Given the description of an element on the screen output the (x, y) to click on. 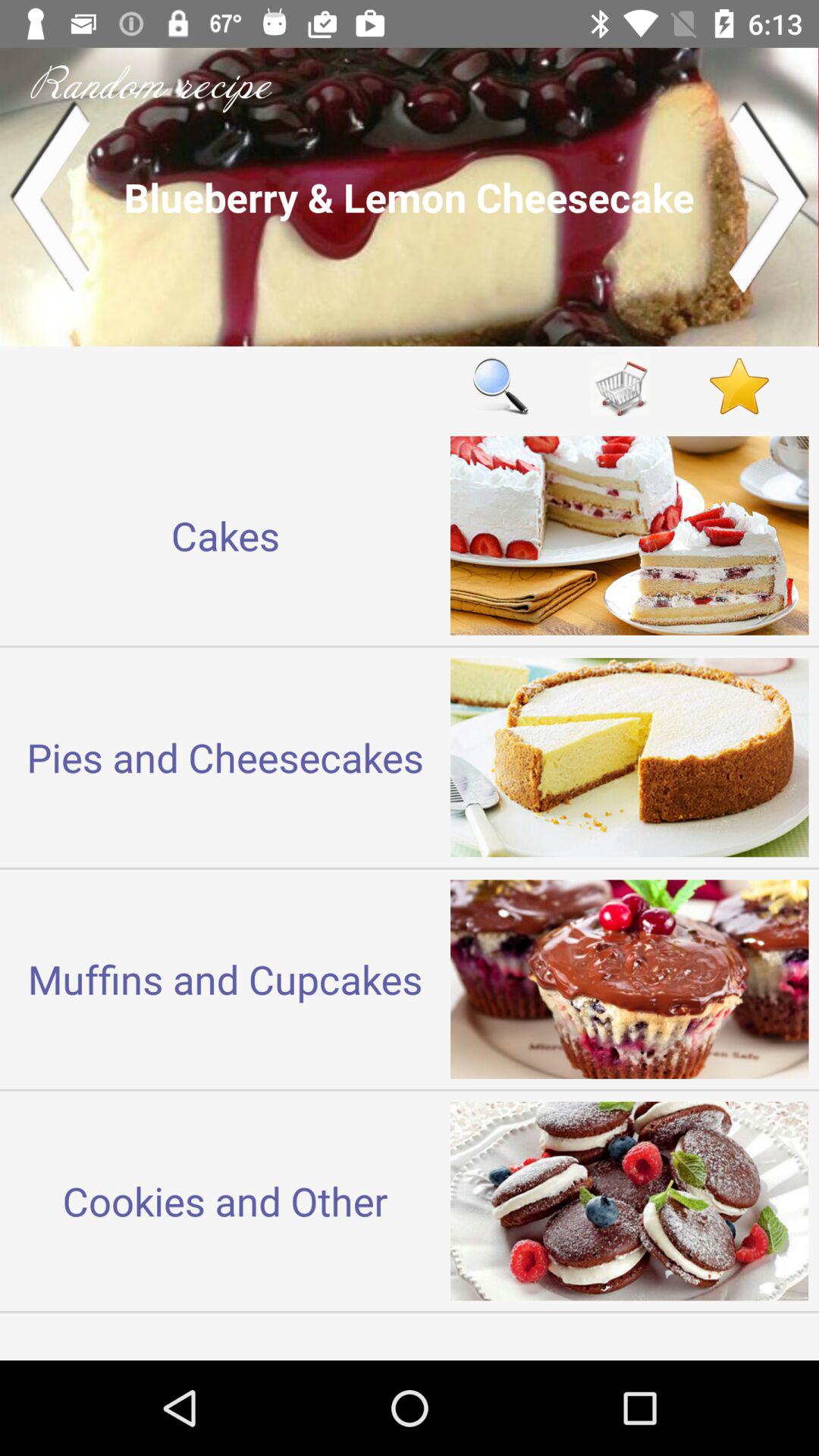
turn on item above cookies and other item (225, 978)
